Given the description of an element on the screen output the (x, y) to click on. 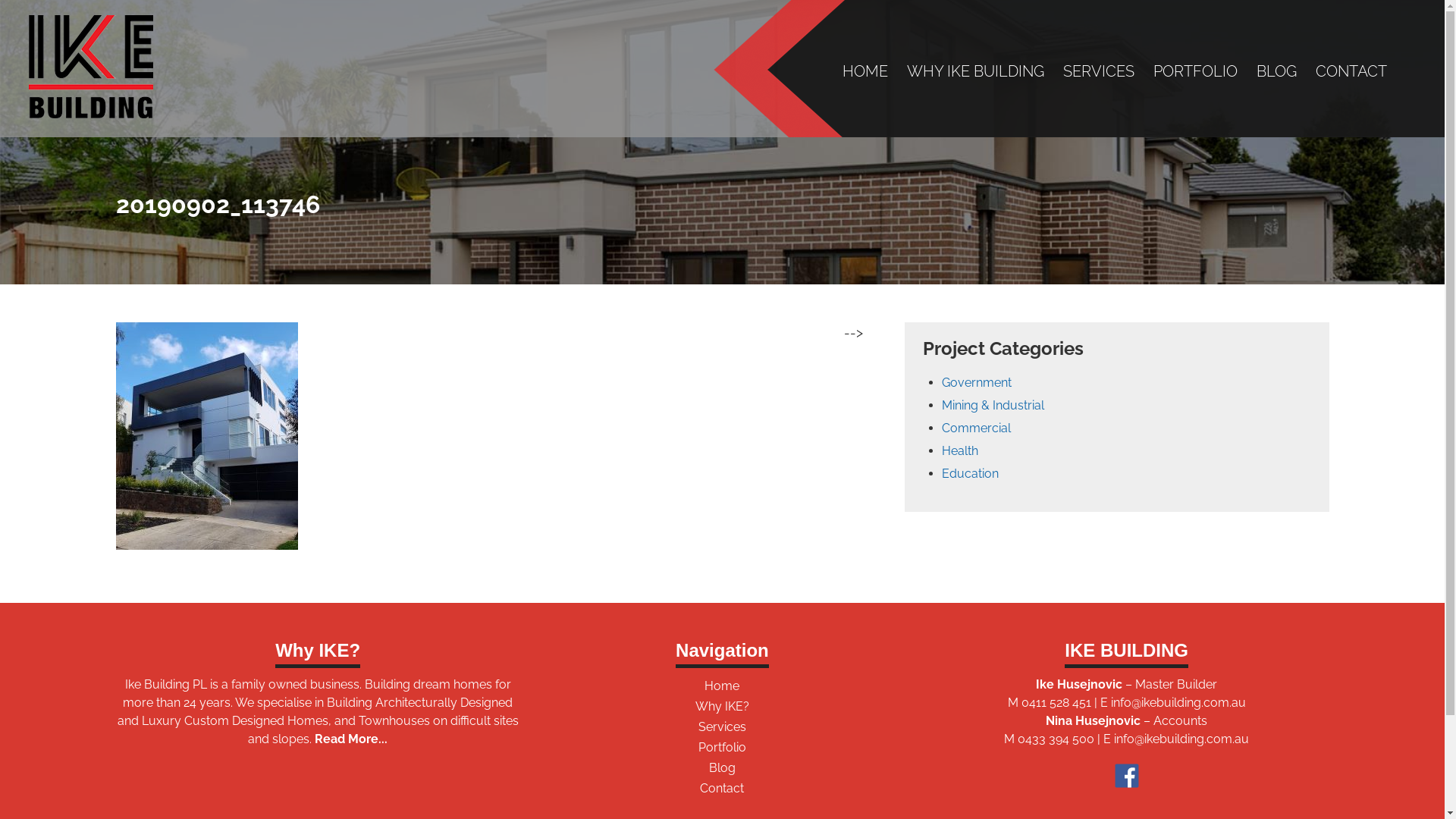
Why IKE? Element type: text (722, 706)
Education Element type: text (969, 473)
CONTACT Element type: text (1350, 71)
Services Element type: text (722, 726)
Health Element type: text (959, 450)
Mining & Industrial Element type: text (992, 405)
SERVICES Element type: text (1098, 71)
PORTFOLIO Element type: text (1195, 71)
Facebook Element type: hover (1126, 774)
Home Element type: text (721, 685)
HOME Element type: text (865, 71)
Contact Element type: text (721, 788)
BLOG Element type: text (1276, 71)
WHY IKE BUILDING Element type: text (975, 71)
Read More... Element type: text (349, 738)
Portfolio Element type: text (722, 747)
Government Element type: text (976, 382)
Commercial Element type: text (975, 427)
Blog Element type: text (722, 767)
